Given the description of an element on the screen output the (x, y) to click on. 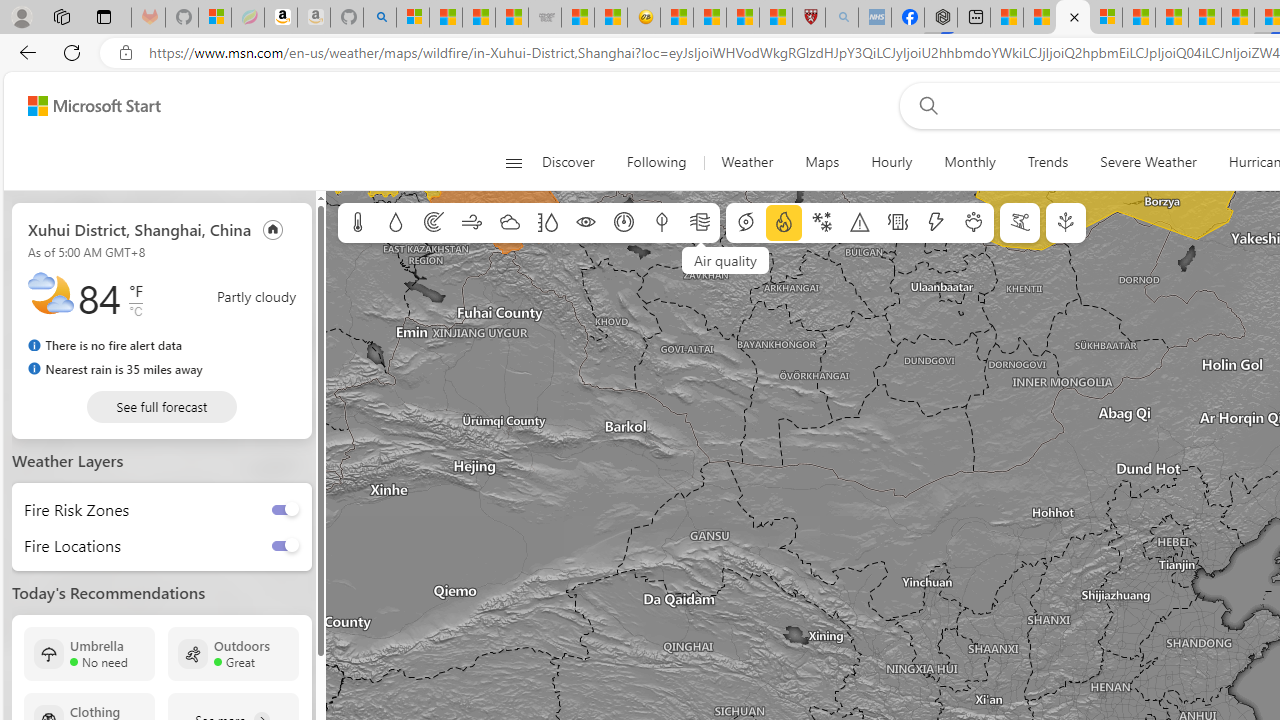
Pollen (974, 223)
Fire Locations (66, 544)
Visibility (586, 223)
E-tree (1066, 223)
Nearest rain is 35 miles away (115, 368)
Severe weather (860, 223)
